Given the description of an element on the screen output the (x, y) to click on. 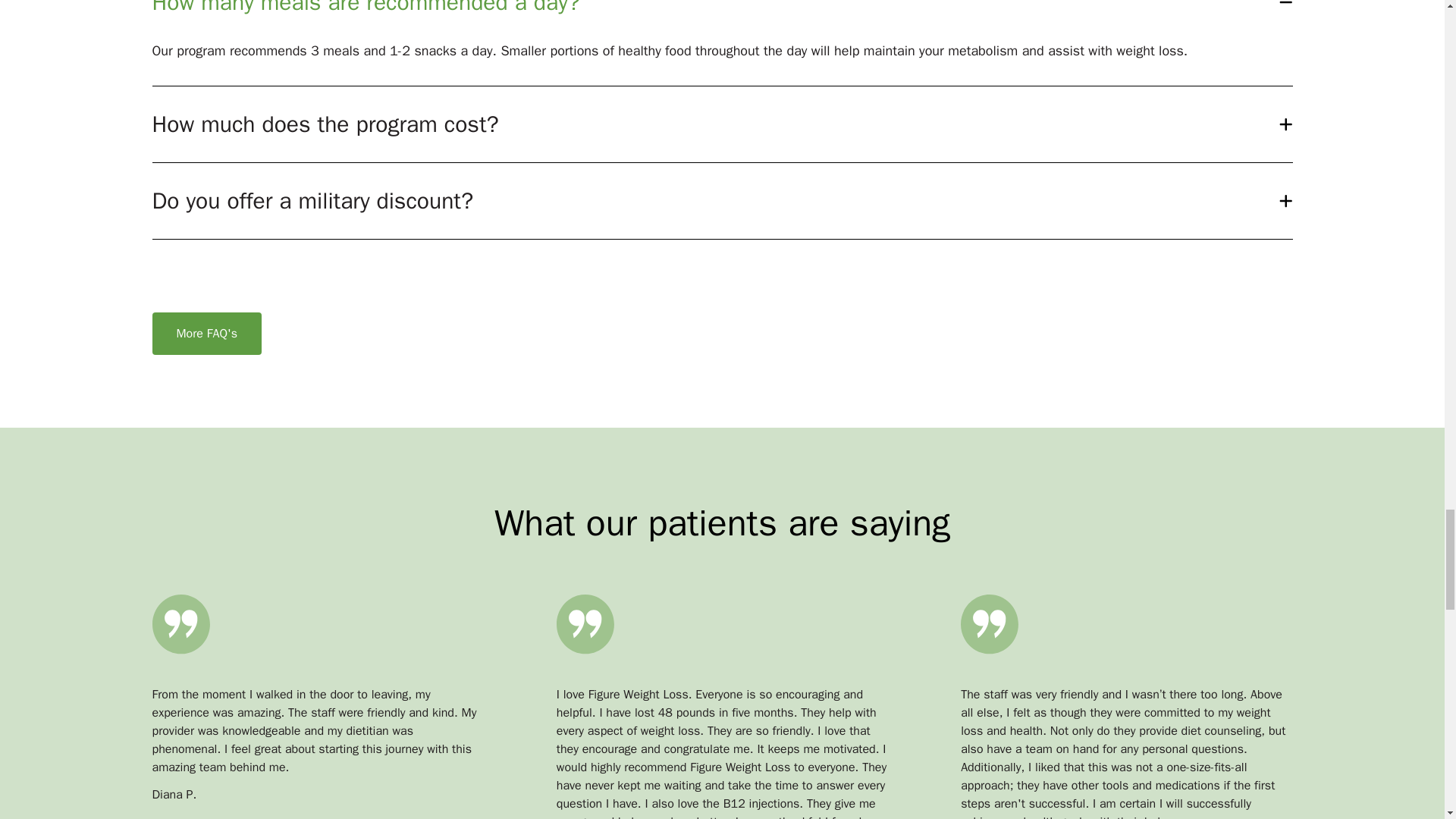
More FAQ's (206, 333)
How much does the program cost? (721, 124)
How many meals are recommended a day? (721, 7)
Do you offer a military discount? (721, 200)
